Given the description of an element on the screen output the (x, y) to click on. 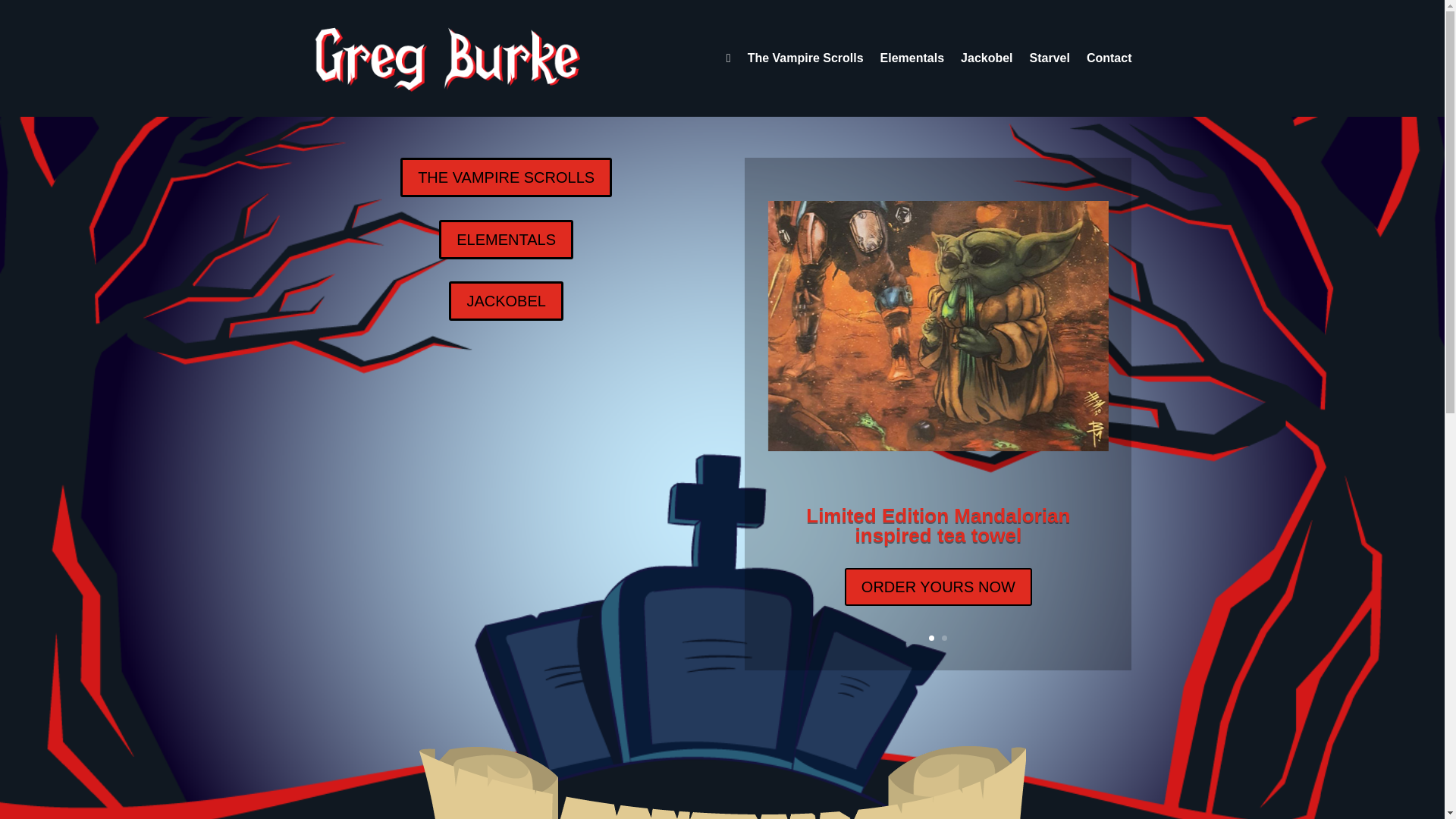
Starvel (1049, 58)
Jackobel (985, 58)
The Vampire Scrolls (805, 58)
ELEMENTALS (506, 239)
Elementals (911, 58)
JACKOBEL (505, 301)
THE VAMPIRE SCROLLS (505, 177)
ORDER YOURS NOW (938, 607)
Limited Edition Mandalorian inspired tea towel (938, 545)
Contact (1109, 58)
